Given the description of an element on the screen output the (x, y) to click on. 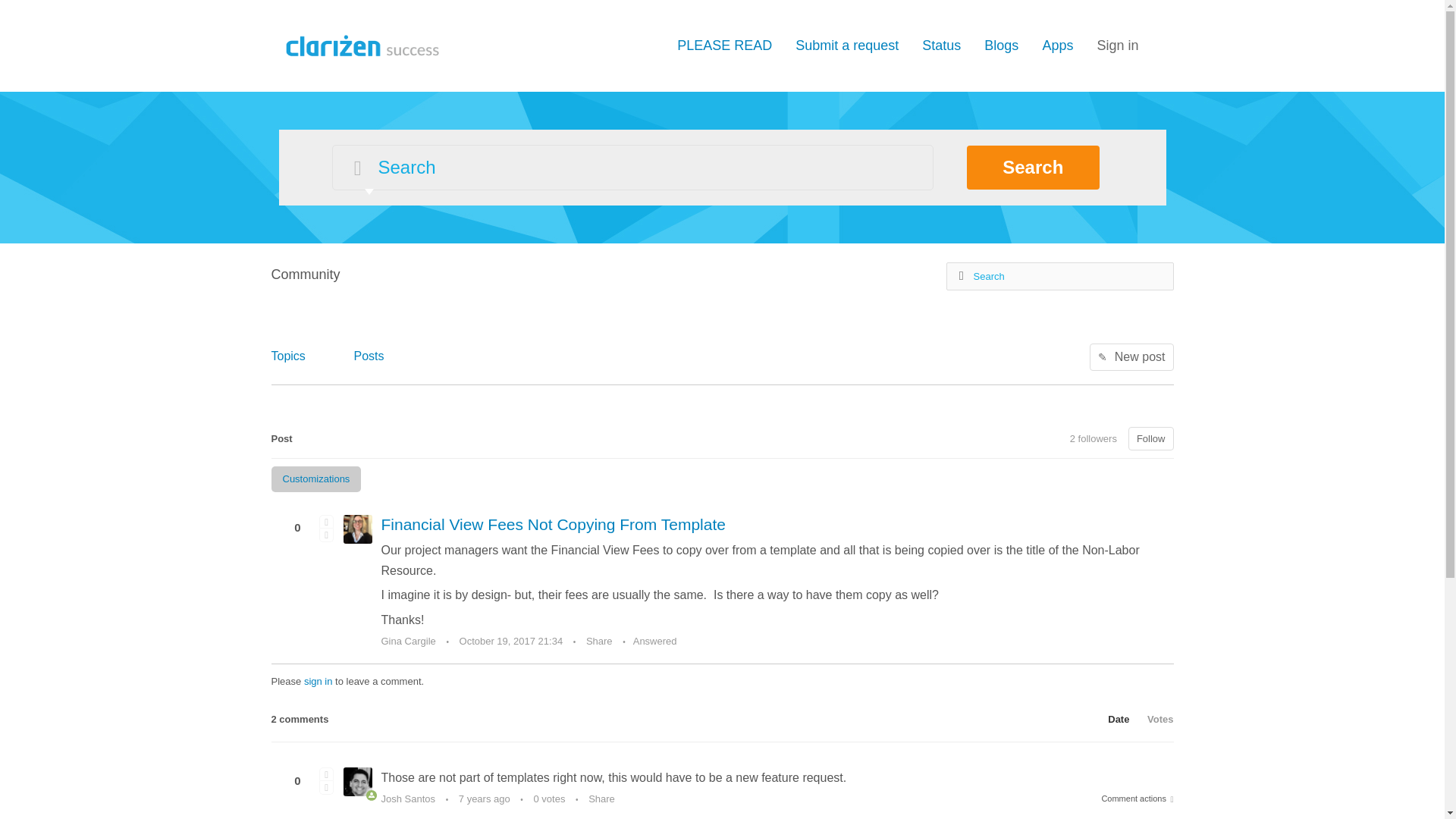
Opens a sign-in dialog (1150, 437)
No (325, 534)
New post (1131, 356)
Search (1032, 167)
Follow (1150, 437)
Sign in (1117, 46)
Topics (287, 354)
Yes (325, 520)
Submit a request (846, 46)
Home (360, 44)
sign in (318, 681)
PLEASE READ (724, 46)
Blogs (1000, 46)
Yes (325, 774)
Votes (1152, 718)
